Given the description of an element on the screen output the (x, y) to click on. 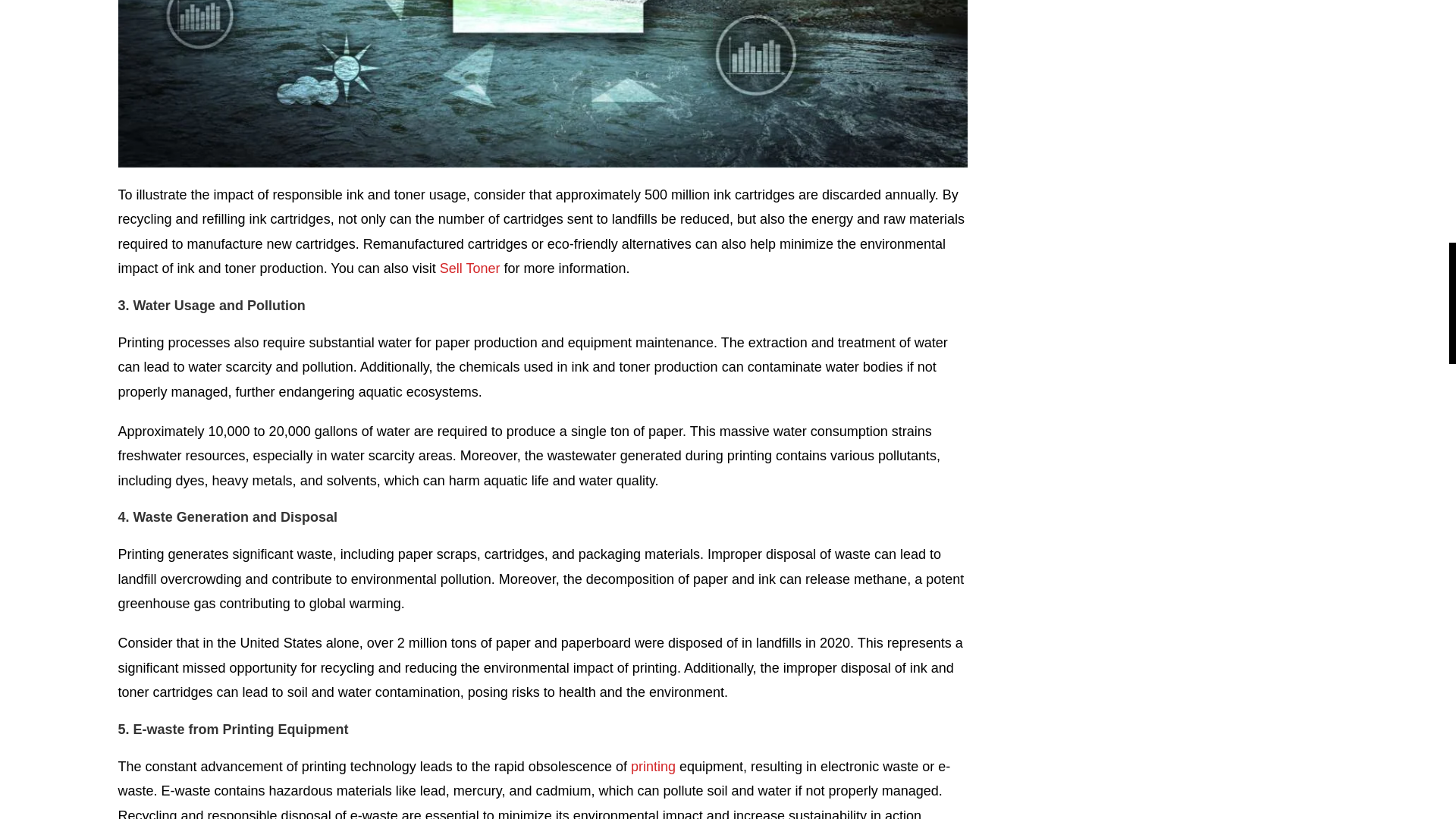
printing (652, 766)
Sell Toner (469, 268)
